Given the description of an element on the screen output the (x, y) to click on. 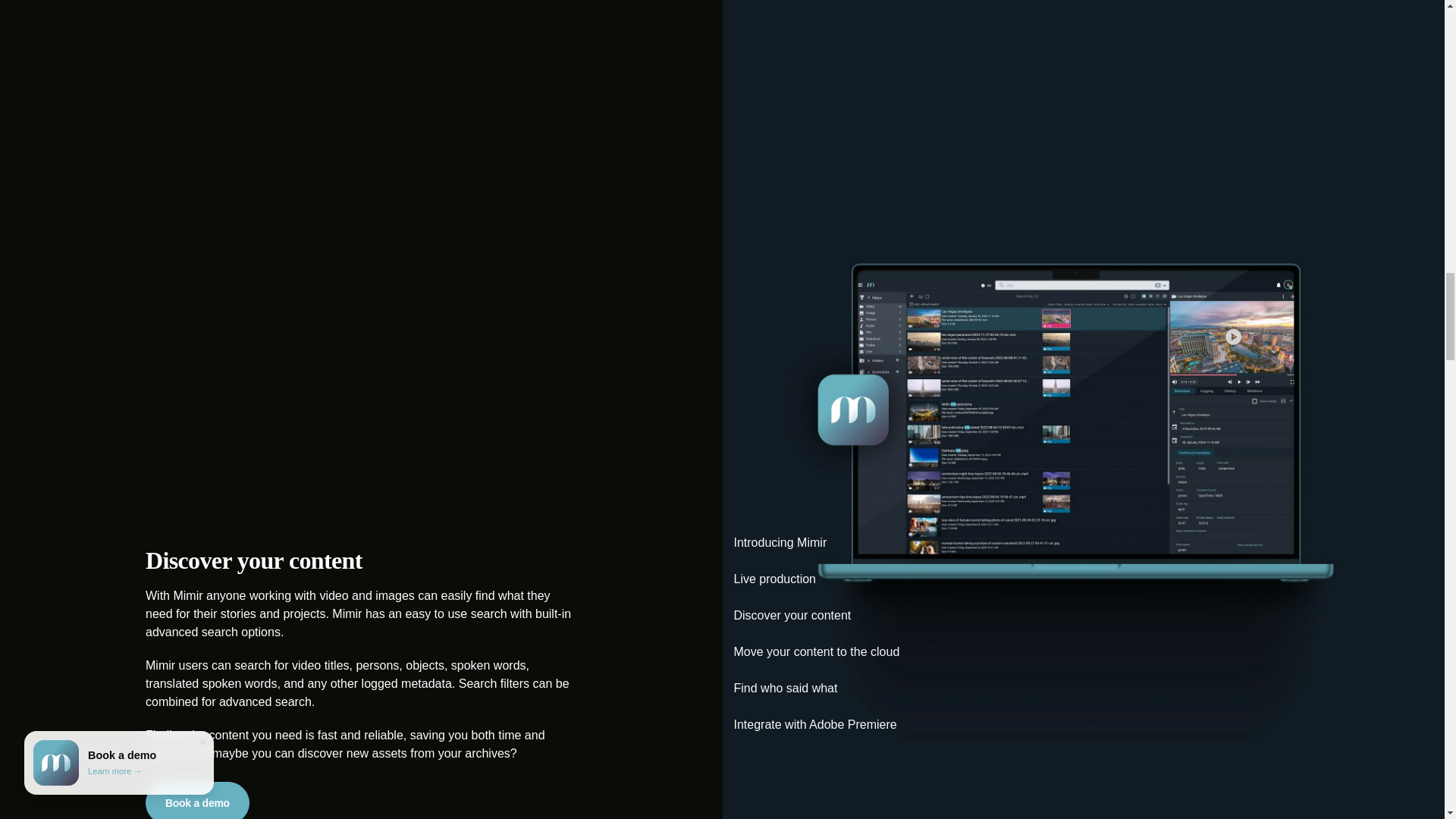
Book a demo (196, 800)
